Given the description of an element on the screen output the (x, y) to click on. 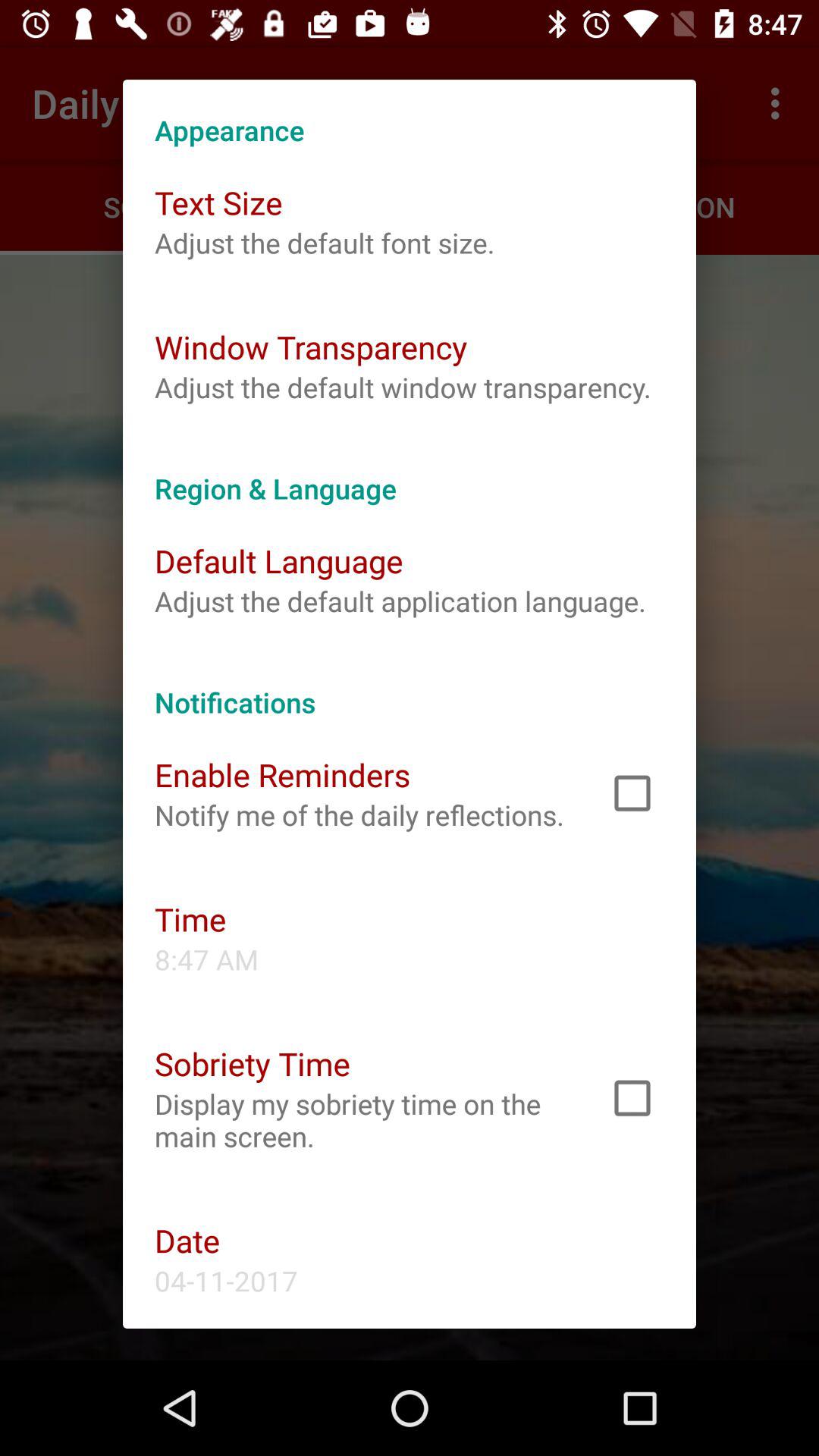
flip to the date (187, 1240)
